Given the description of an element on the screen output the (x, y) to click on. 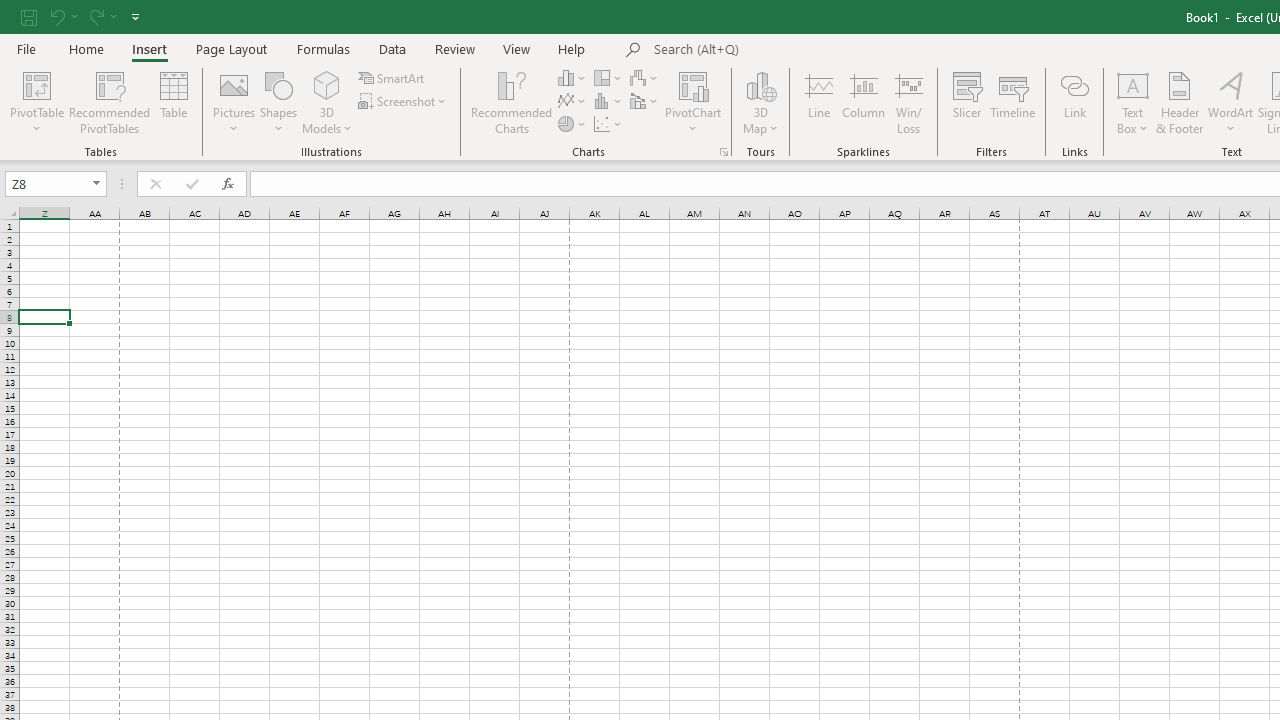
Insert Column or Bar Chart (573, 78)
Microsoft search (792, 49)
Slicer... (966, 102)
Column (863, 102)
